Given the description of an element on the screen output the (x, y) to click on. 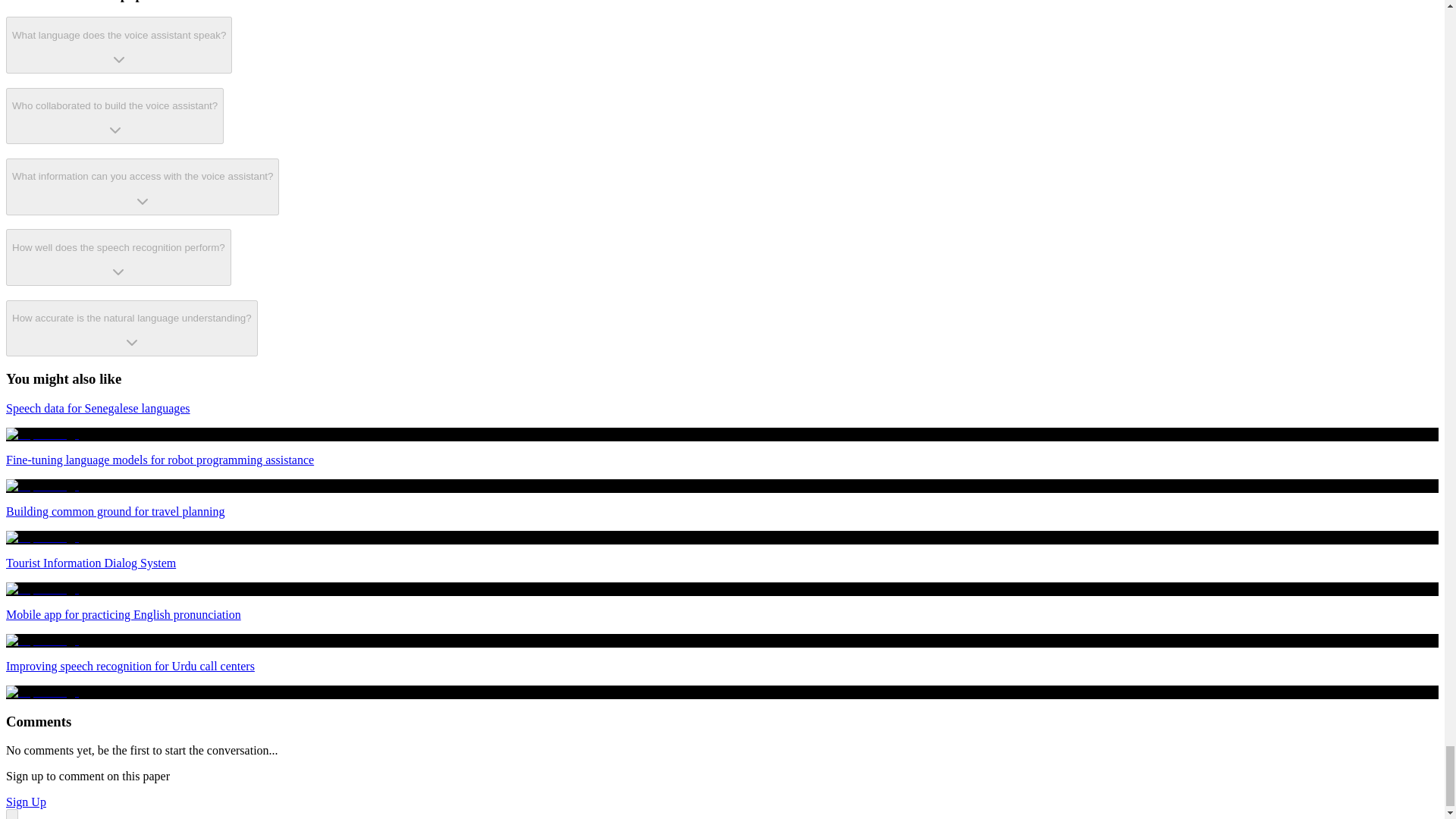
Sign Up (25, 801)
What language does the voice assistant speak? (118, 44)
Who collaborated to build the voice assistant? (114, 115)
How well does the speech recognition perform? (118, 257)
How accurate is the natural language understanding? (131, 328)
What information can you access with the voice assistant? (142, 186)
